Given the description of an element on the screen output the (x, y) to click on. 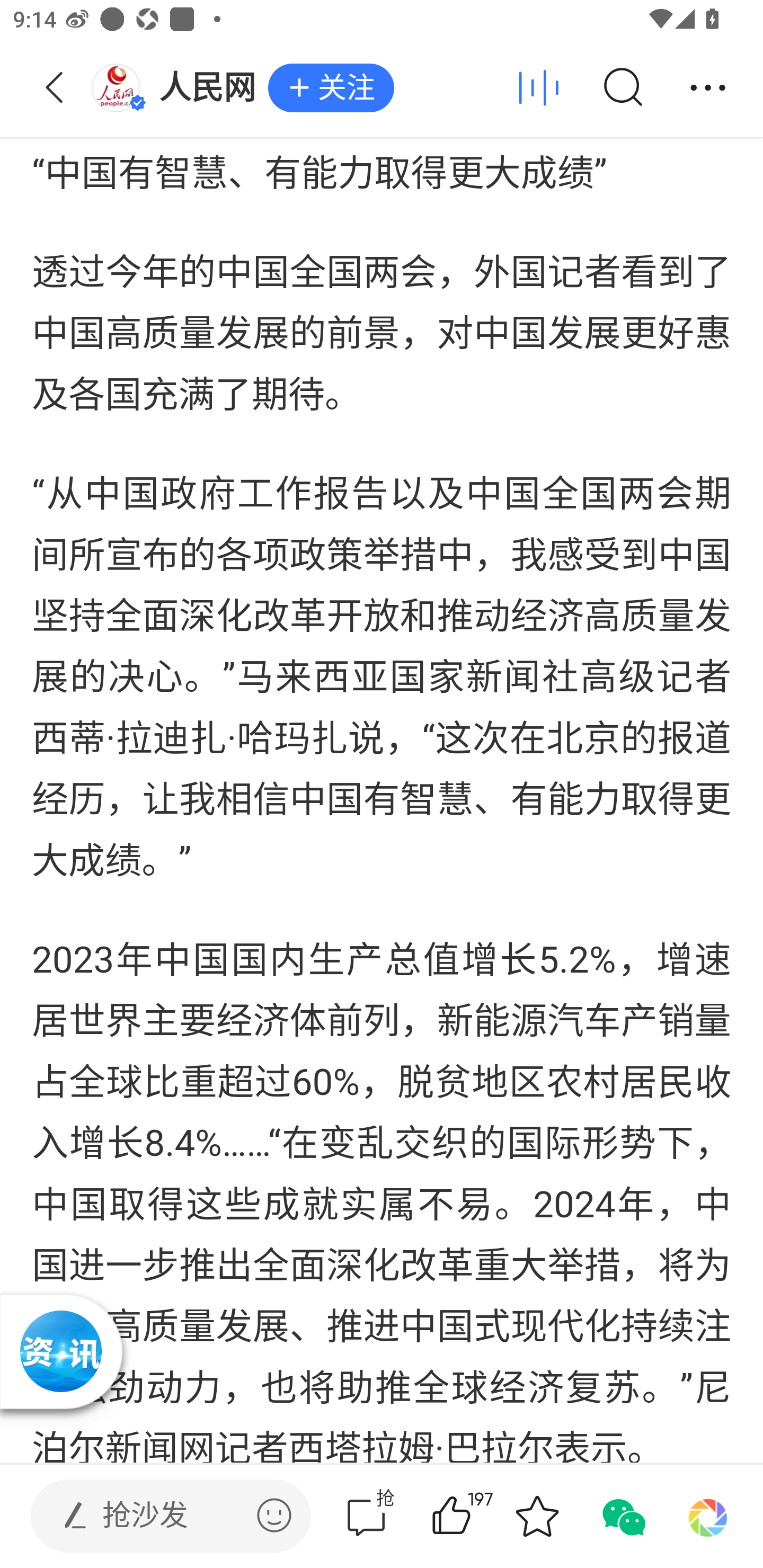
人民网 (179, 87)
搜索  (622, 87)
分享  (707, 87)
 返回 (54, 87)
 关注 (330, 88)
播放器 (60, 1351)
发表评论  抢沙发 发表评论  (155, 1516)
抢评论  抢 评论 (365, 1516)
197赞 (476, 1516)
收藏  (536, 1516)
分享到微信  (622, 1516)
分享到朋友圈 (707, 1516)
 (274, 1515)
